Given the description of an element on the screen output the (x, y) to click on. 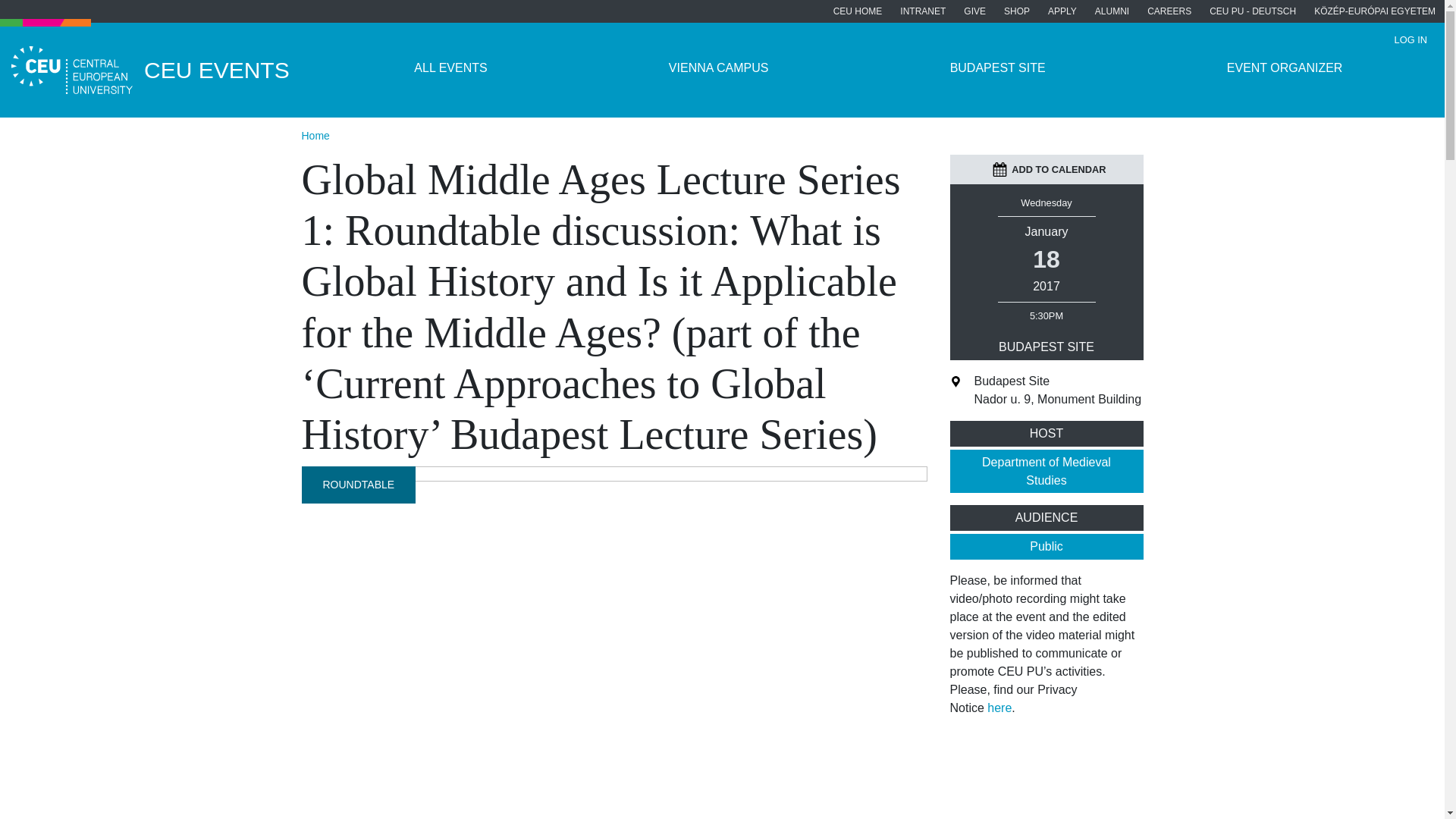
here (999, 707)
Public (1045, 546)
GIVE (974, 11)
INTRANET (923, 11)
EVENT ORGANIZER (1283, 68)
Department of Medieval Studies (1045, 471)
CEU EVENTS (162, 69)
CAREERS (1168, 11)
ALUMNI (1112, 11)
ADD TO CALENDAR (1048, 169)
VIENNA CAMPUS (718, 68)
BUDAPEST SITE (997, 68)
CEU HOME (857, 11)
CEU PU - DEUTSCH (1251, 11)
